Given the description of an element on the screen output the (x, y) to click on. 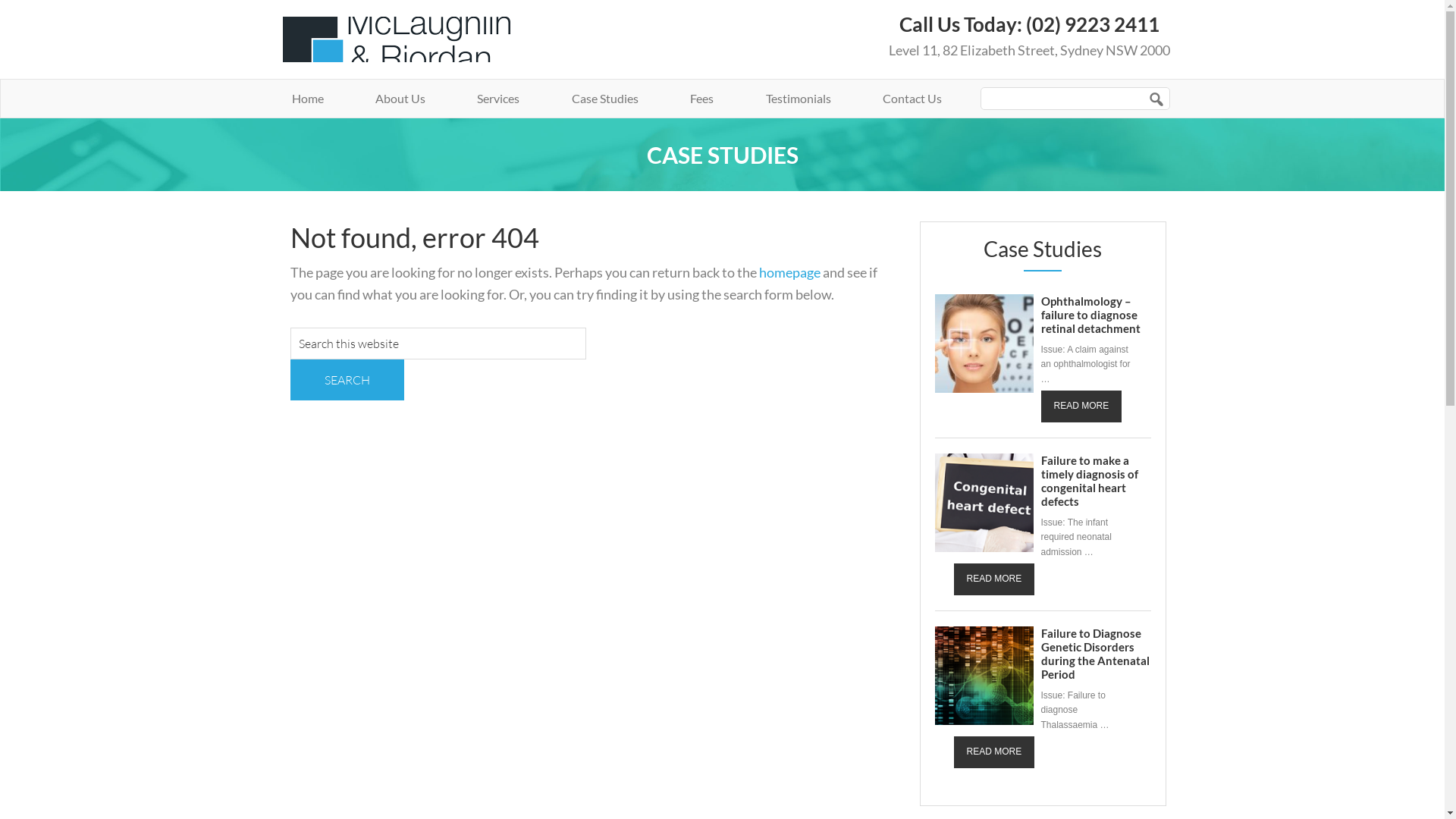
Services Element type: text (497, 98)
Search Element type: text (1226, 86)
Search Element type: text (346, 379)
Testimonials Element type: text (798, 98)
Contact Us Element type: text (912, 98)
READ MORE Element type: text (1080, 406)
MCLAUGHLIN & RIORDAN Element type: text (412, 39)
About Us Element type: text (400, 98)
READ MORE Element type: text (994, 579)
READ MORE Element type: text (994, 752)
Fees Element type: text (701, 98)
homepage Element type: text (788, 271)
Case Studies Element type: text (604, 98)
Home Element type: text (306, 98)
